Given the description of an element on the screen output the (x, y) to click on. 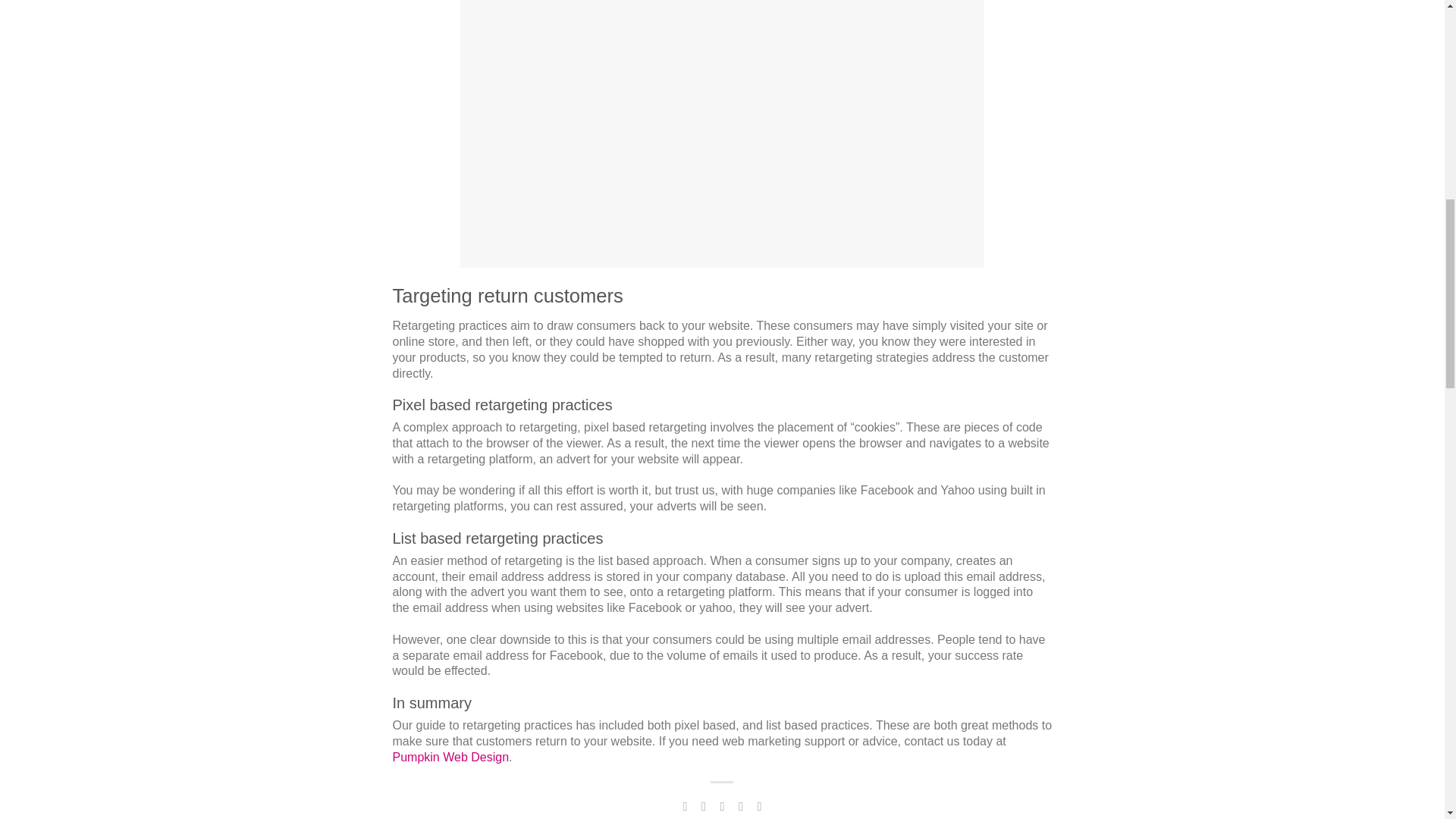
Share on Twitter (703, 806)
Share on Facebook (684, 806)
Share on LinkedIn (740, 806)
Pin on Pinterest (722, 806)
